Given the description of an element on the screen output the (x, y) to click on. 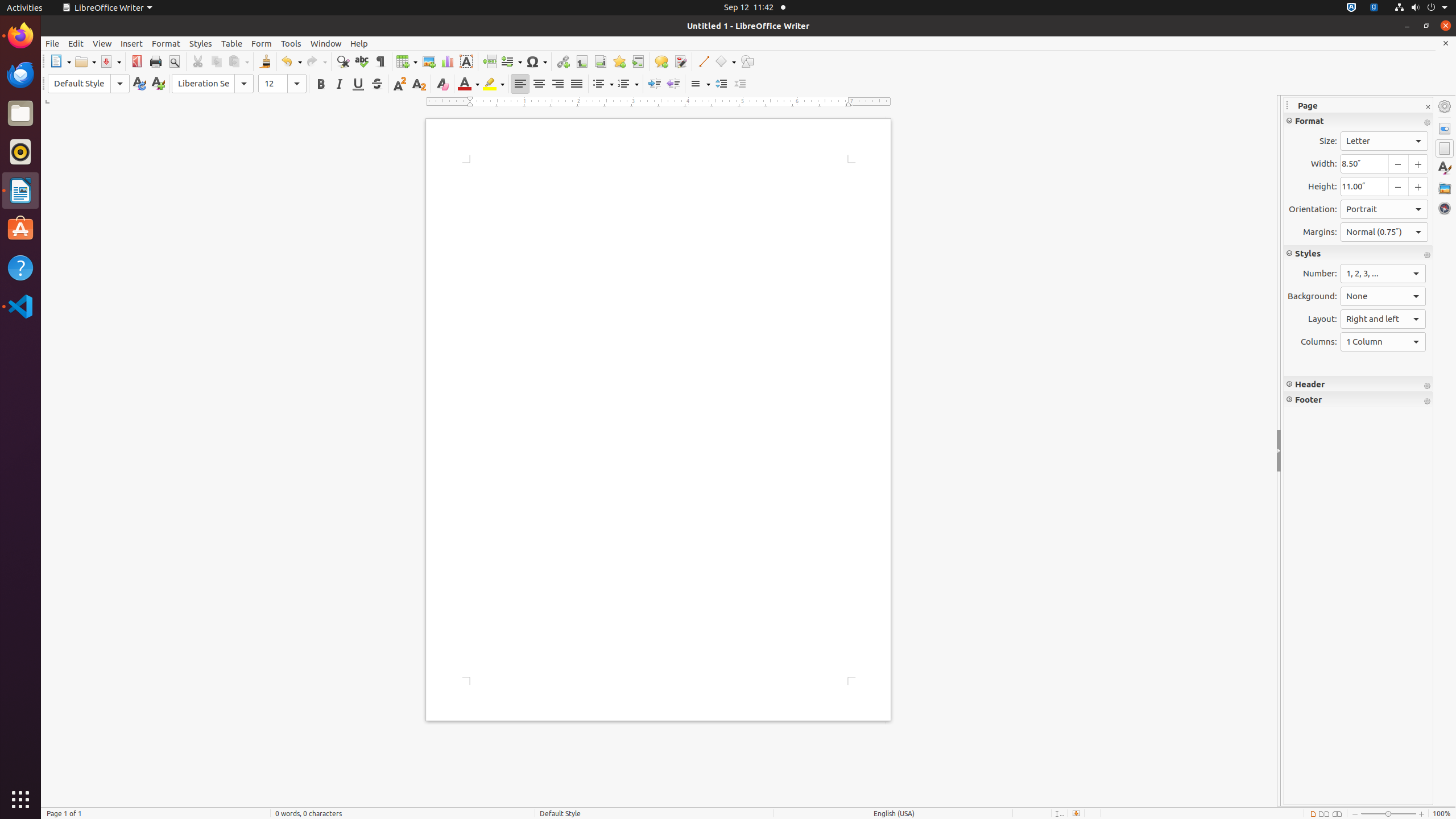
Insert Element type: menu (131, 43)
Columns: Element type: combo-box (1382, 341)
Page Element type: radio-button (1444, 148)
Print Preview Element type: toggle-button (173, 61)
Edit Element type: menu (75, 43)
